Given the description of an element on the screen output the (x, y) to click on. 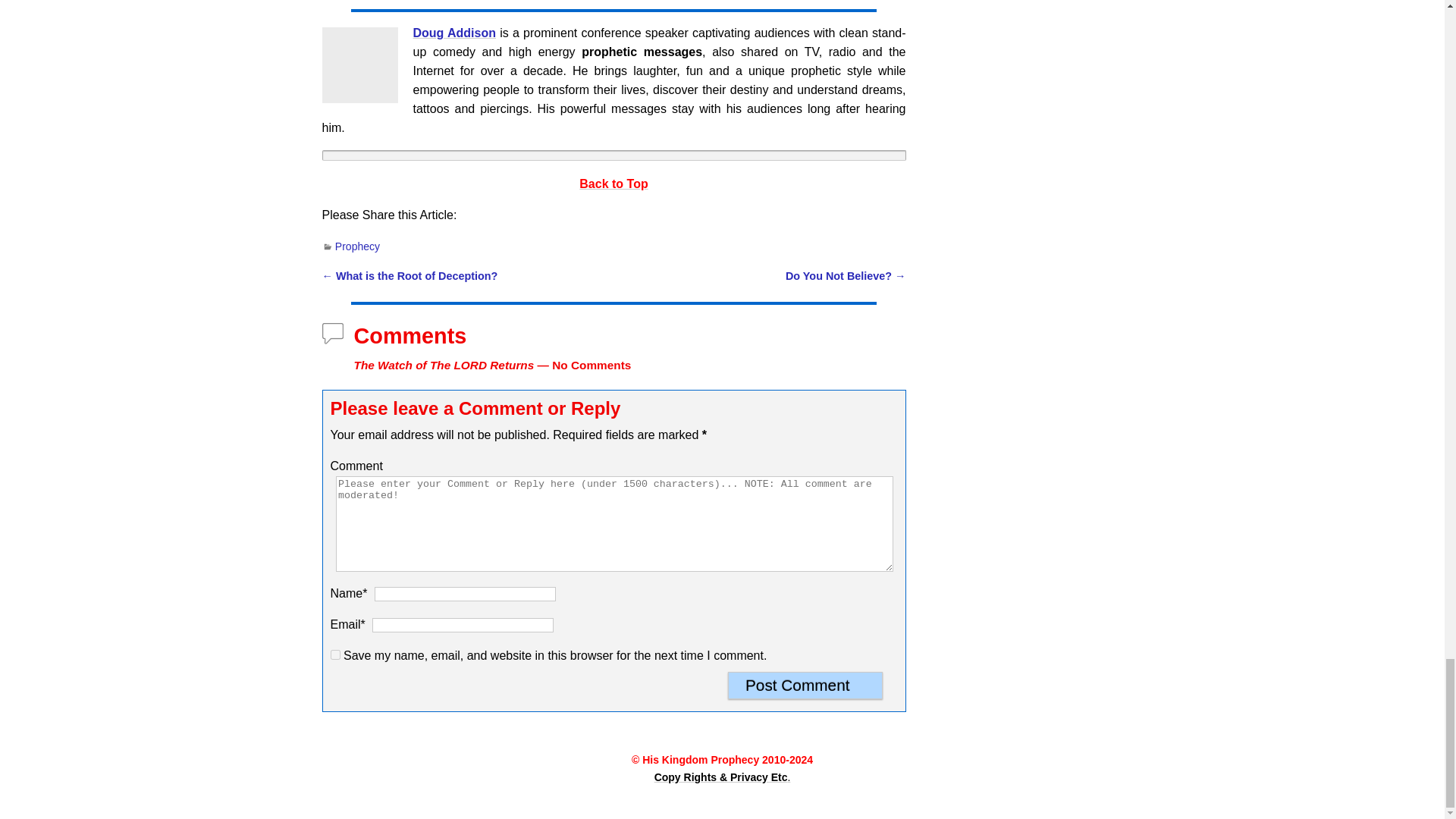
Doug Addison (359, 65)
yes (335, 655)
Link to Doug Addison's website (454, 32)
Post Comment (805, 685)
